Given the description of an element on the screen output the (x, y) to click on. 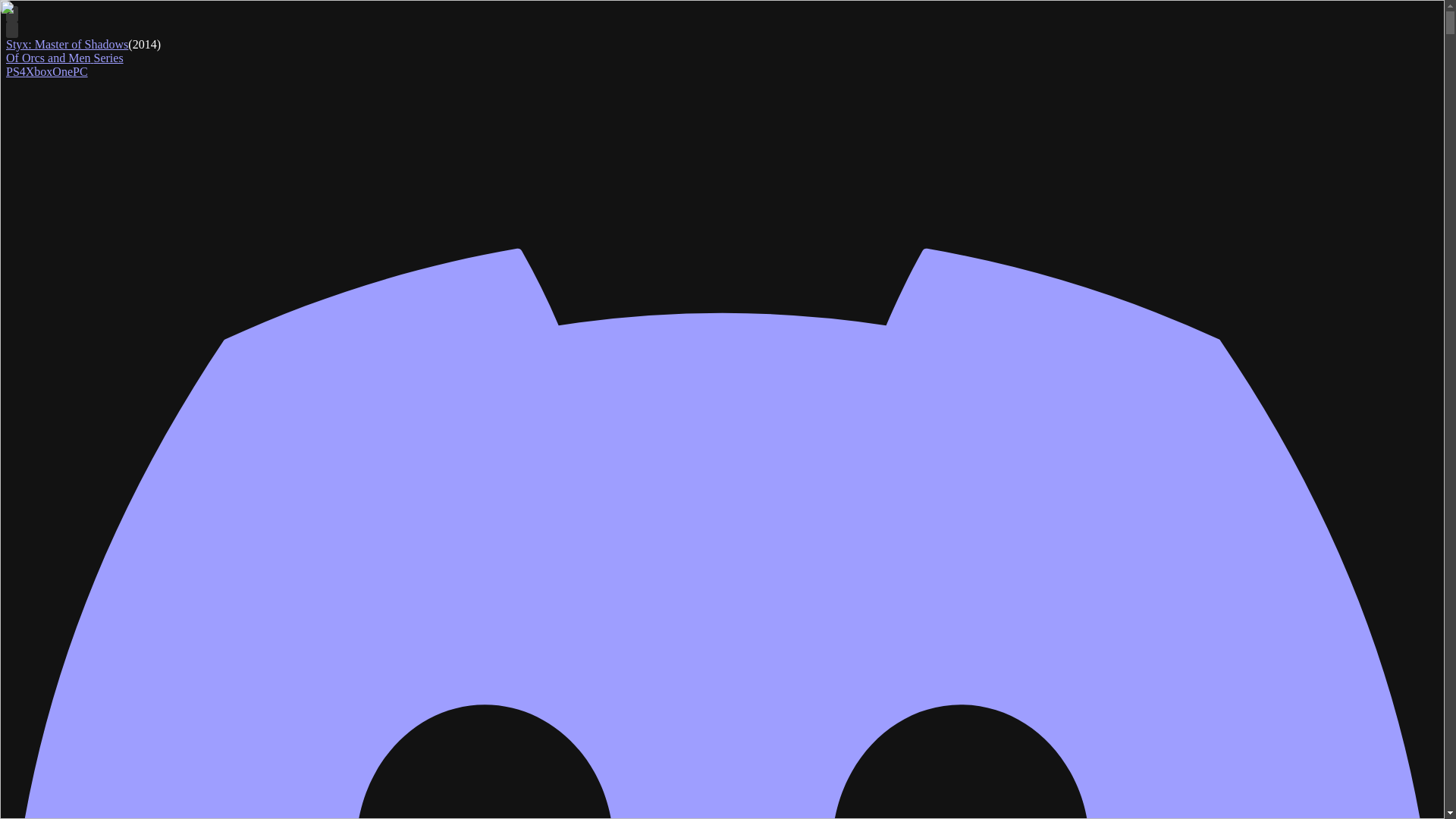
XboxOne (49, 71)
PS4 (15, 71)
PC (79, 71)
Of Orcs and Men Series (64, 57)
Styx: Master of Shadows (66, 43)
